Given the description of an element on the screen output the (x, y) to click on. 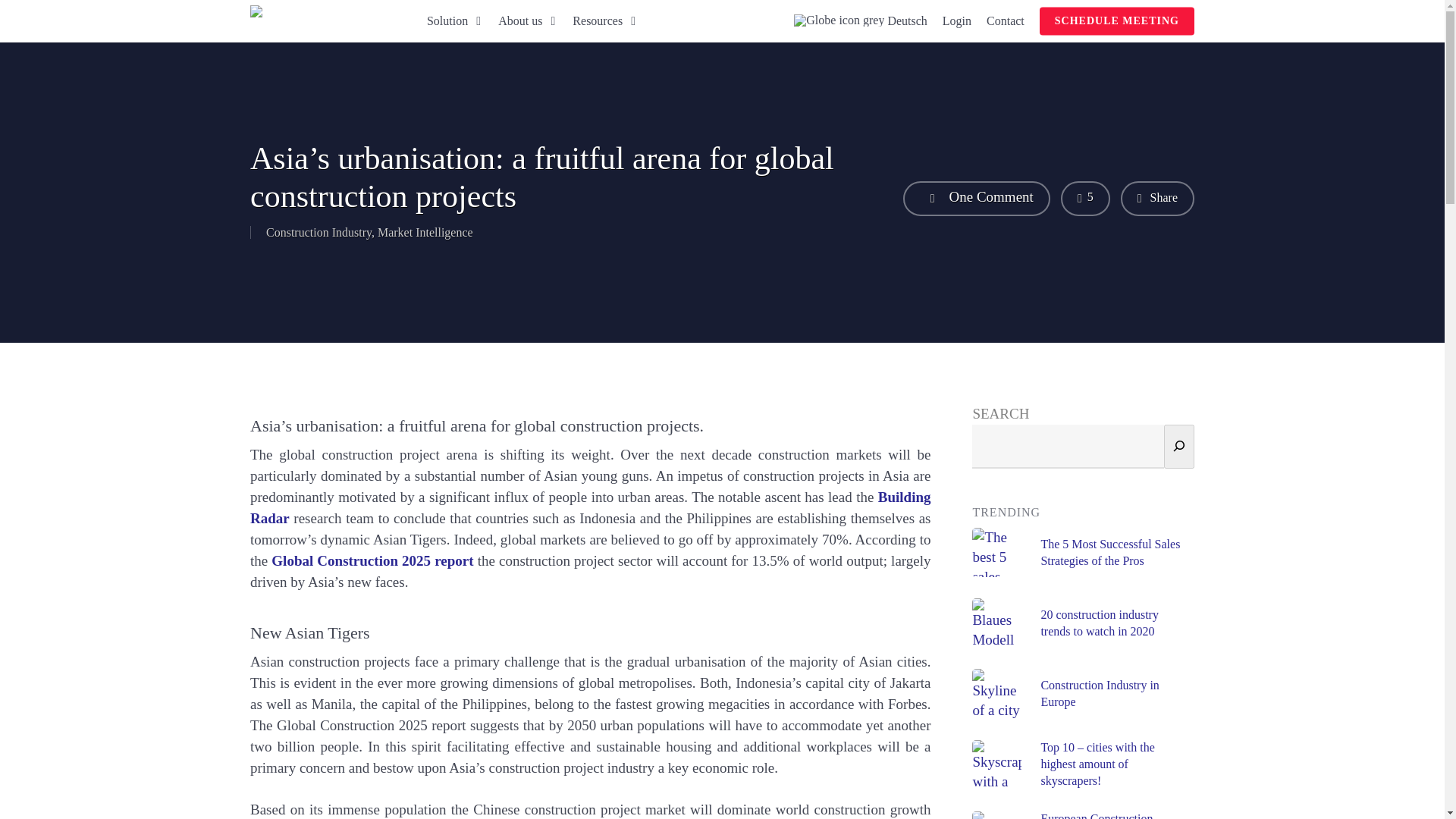
Love this (1085, 198)
SCHEDULE MEETING (1116, 21)
Login (952, 21)
Construction Industry (318, 232)
Contact (1000, 21)
Deutsch (855, 21)
Resources (597, 21)
About us (520, 21)
Solution (447, 21)
